Given the description of an element on the screen output the (x, y) to click on. 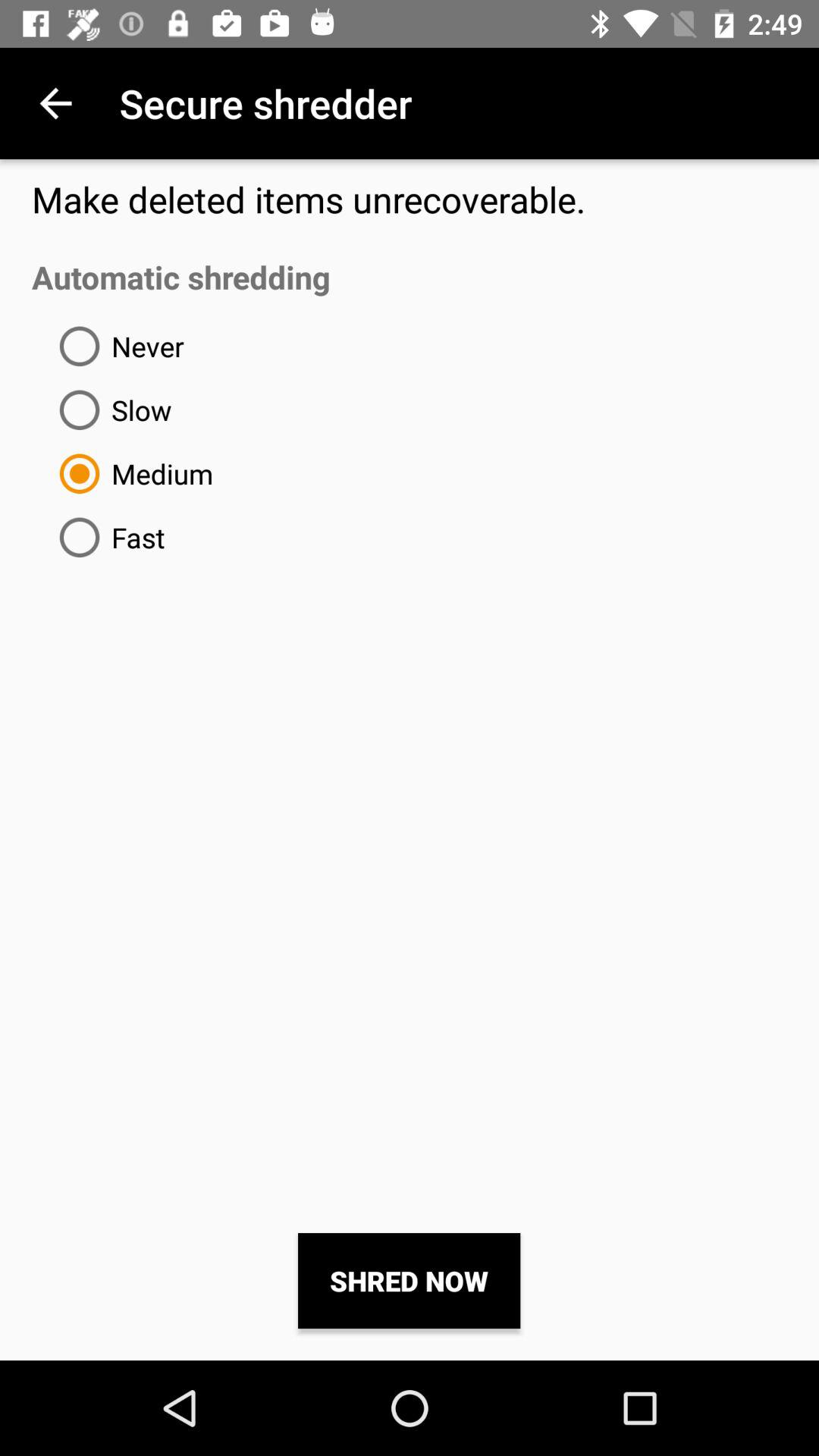
turn off icon above fast item (130, 473)
